Given the description of an element on the screen output the (x, y) to click on. 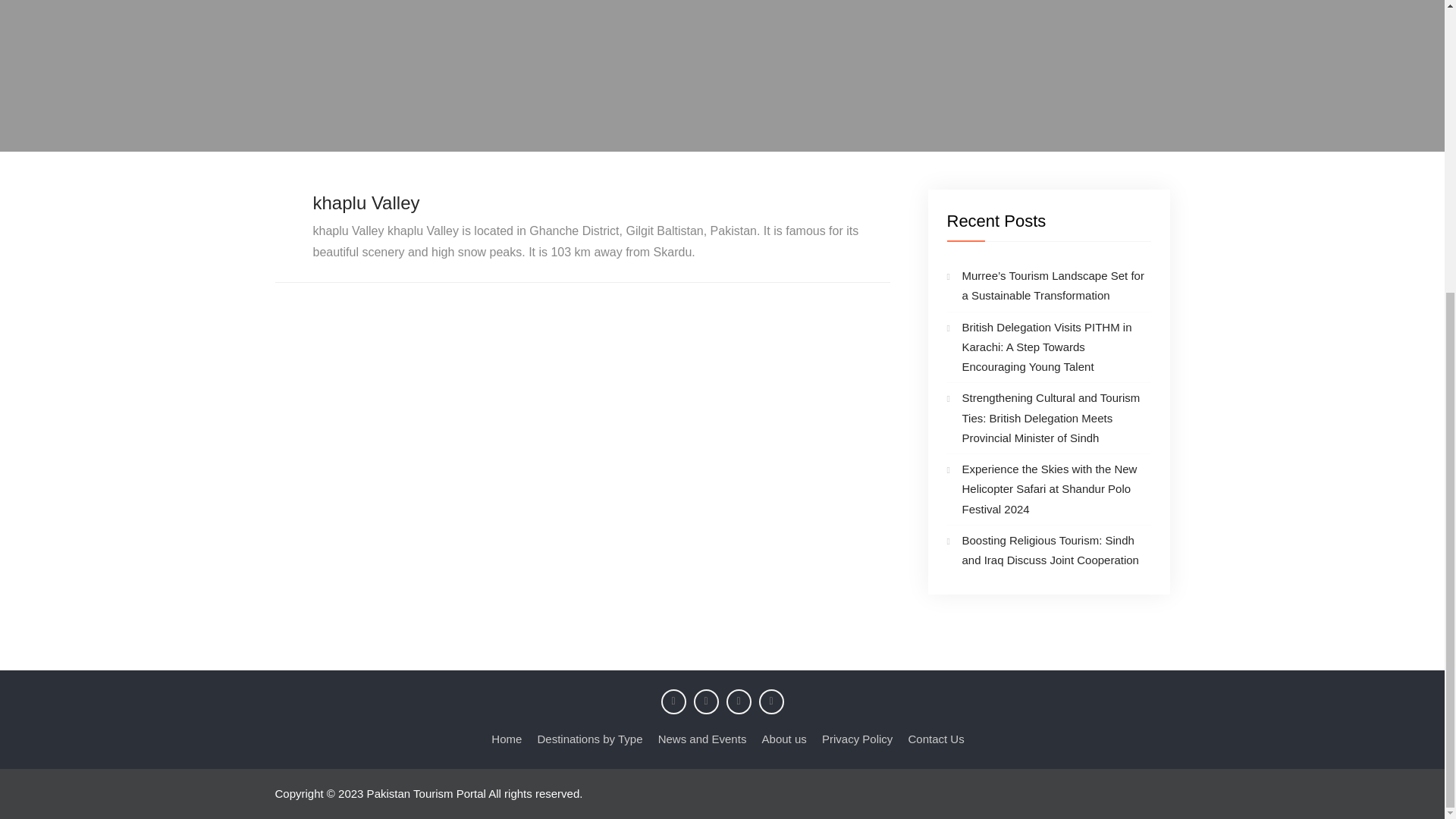
khaplu Valley (366, 202)
